Given the description of an element on the screen output the (x, y) to click on. 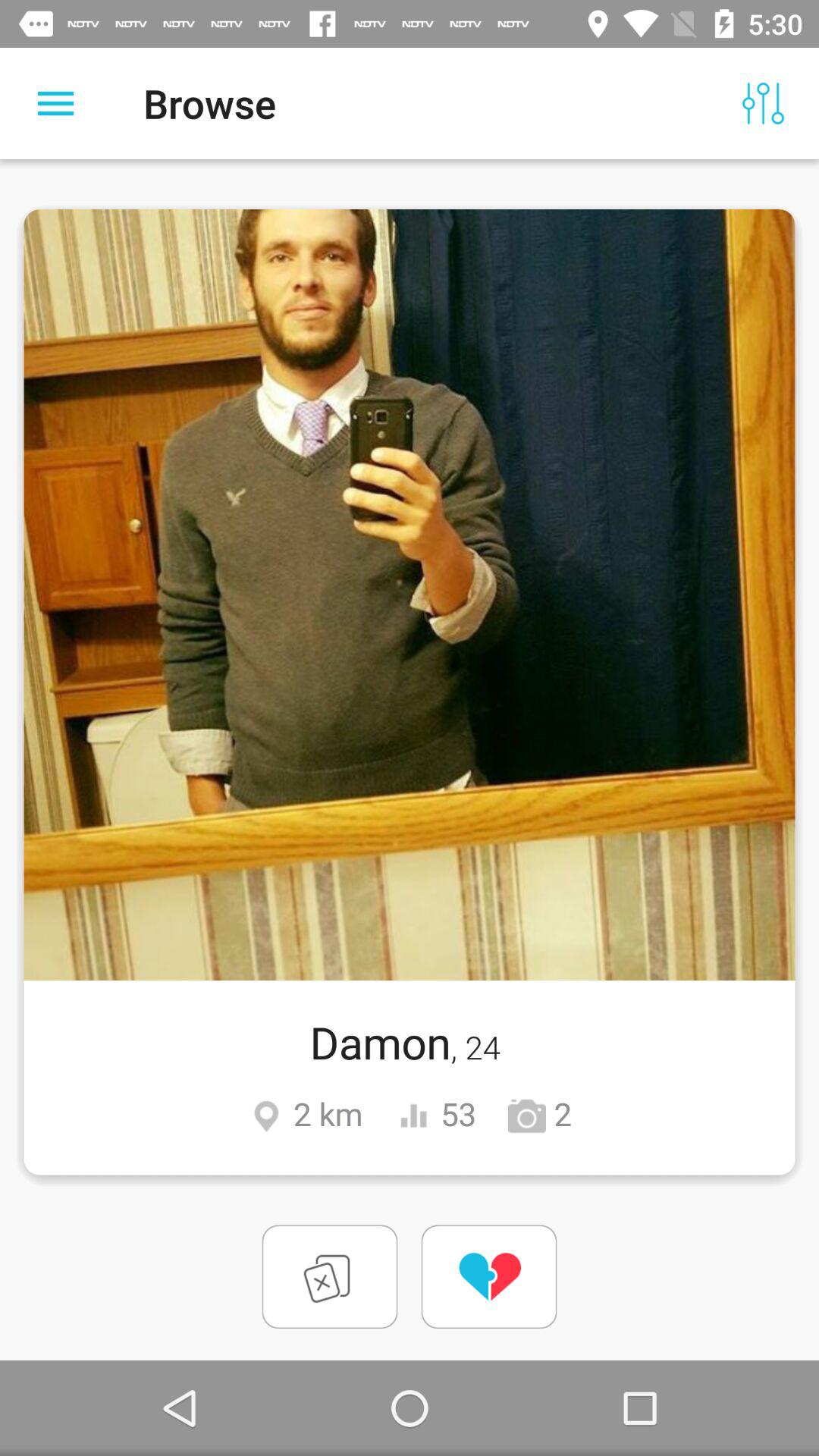
tap item to the left of the browse icon (55, 103)
